Given the description of an element on the screen output the (x, y) to click on. 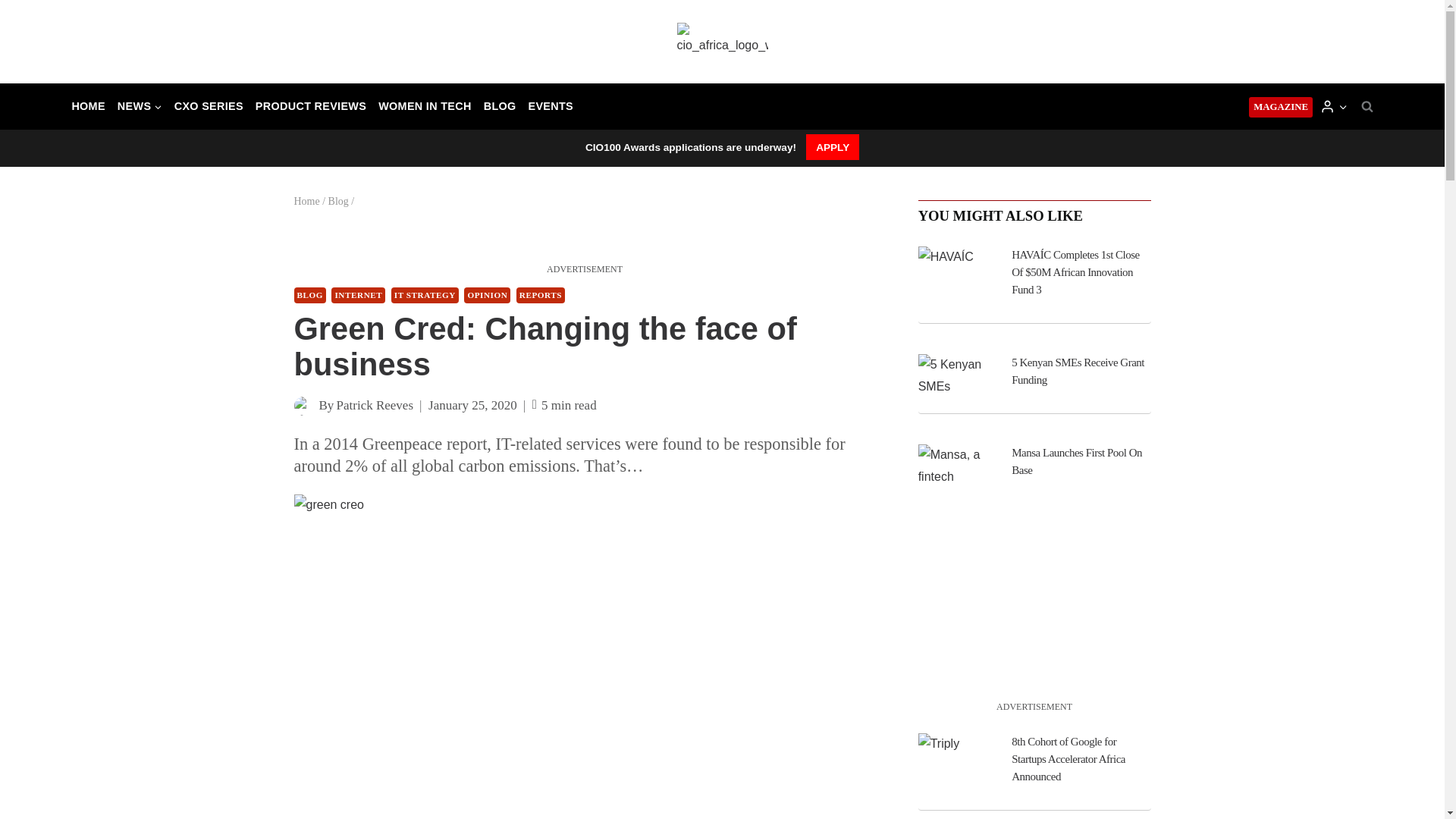
MAGAZINE (1281, 107)
BLOG (310, 295)
PRODUCT REVIEWS (310, 106)
INTERNET (358, 295)
BLOG (499, 106)
NEWS (140, 106)
OPINION (487, 295)
HOME (87, 106)
REPORTS (540, 295)
Home (307, 201)
WOMEN IN TECH (424, 106)
CXO SERIES (208, 106)
IT STRATEGY (424, 295)
APPLY (832, 146)
EVENTS (550, 106)
